Given the description of an element on the screen output the (x, y) to click on. 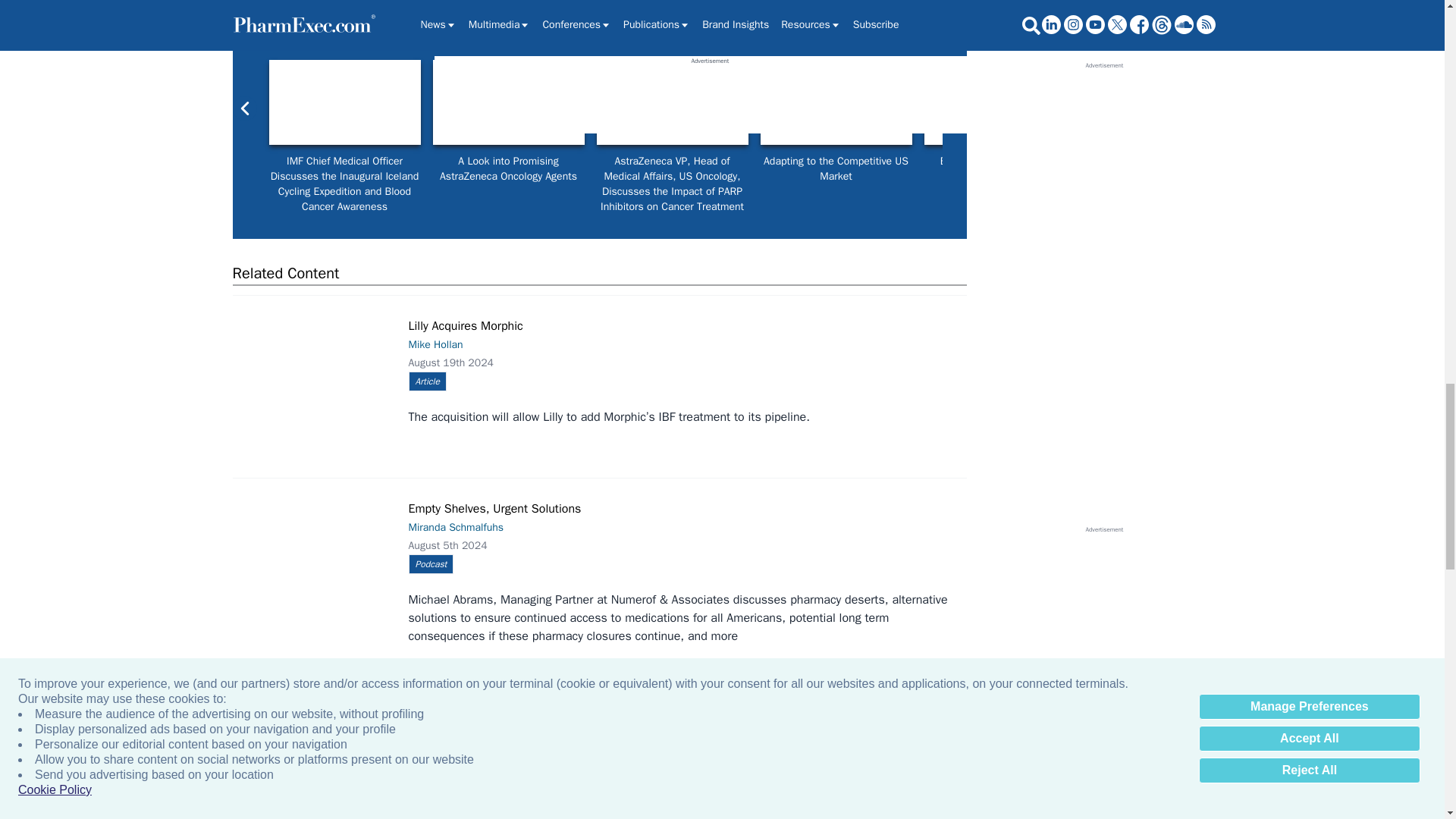
The Impact of Lynparza as a Cancer Treatment  (1326, 102)
Adapting to the Competitive US Market (835, 102)
A Look into Promising AstraZeneca Oncology Agents (507, 102)
Balancing Profitability and Mission (999, 102)
LEO Pharma's Patient-Centric Approach (1163, 102)
